Given the description of an element on the screen output the (x, y) to click on. 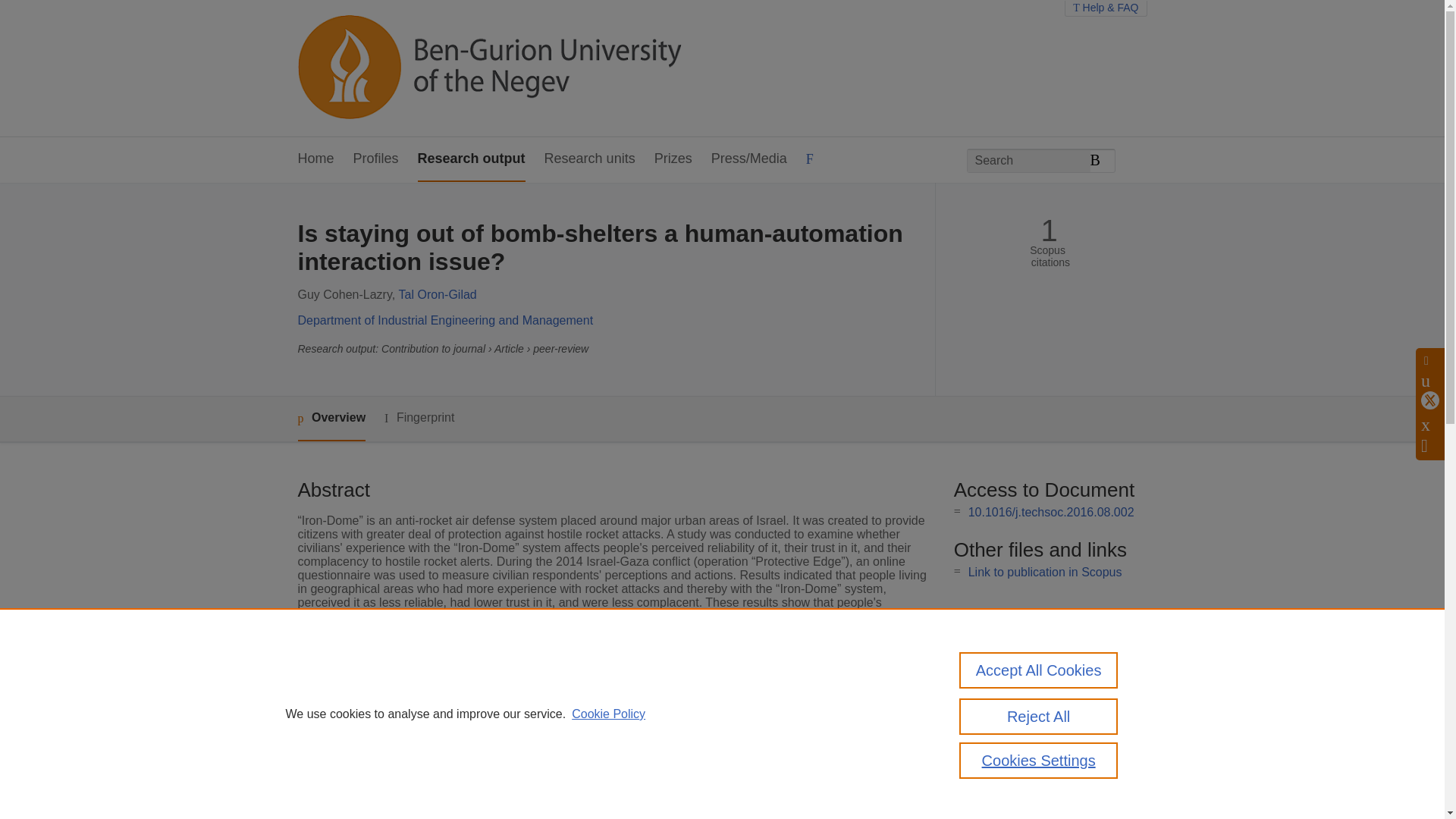
Profiles (375, 159)
Research units (589, 159)
Fingerprint (419, 417)
Technology in Society (568, 734)
Ben-Gurion University Research Portal Home (489, 68)
Overview (331, 418)
Department of Industrial Engineering and Management (444, 319)
Tal Oron-Gilad (437, 294)
Research output (471, 159)
Link to publication in Scopus (1045, 571)
